Given the description of an element on the screen output the (x, y) to click on. 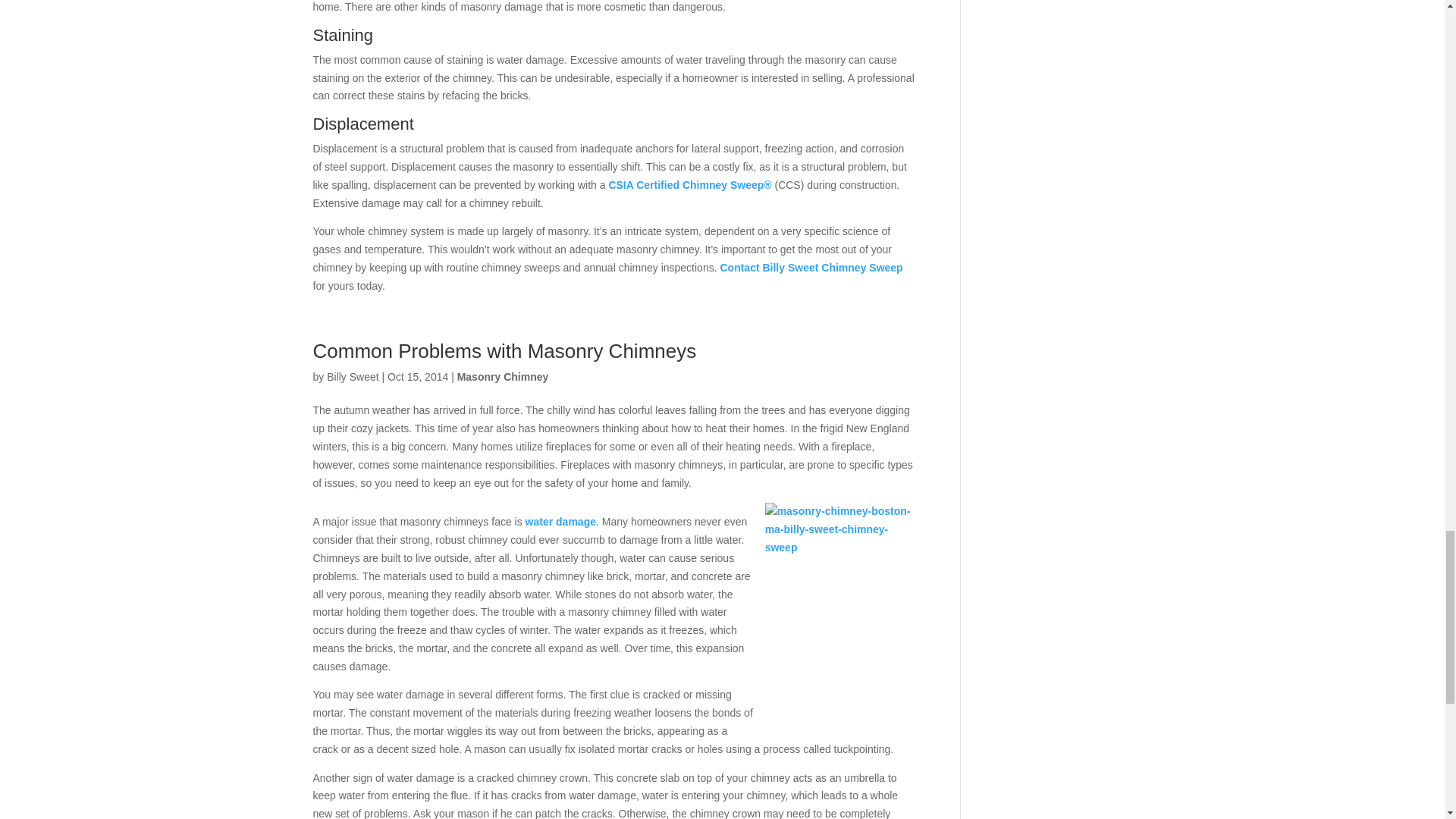
Posts by Billy Sweet (352, 377)
